Given the description of an element on the screen output the (x, y) to click on. 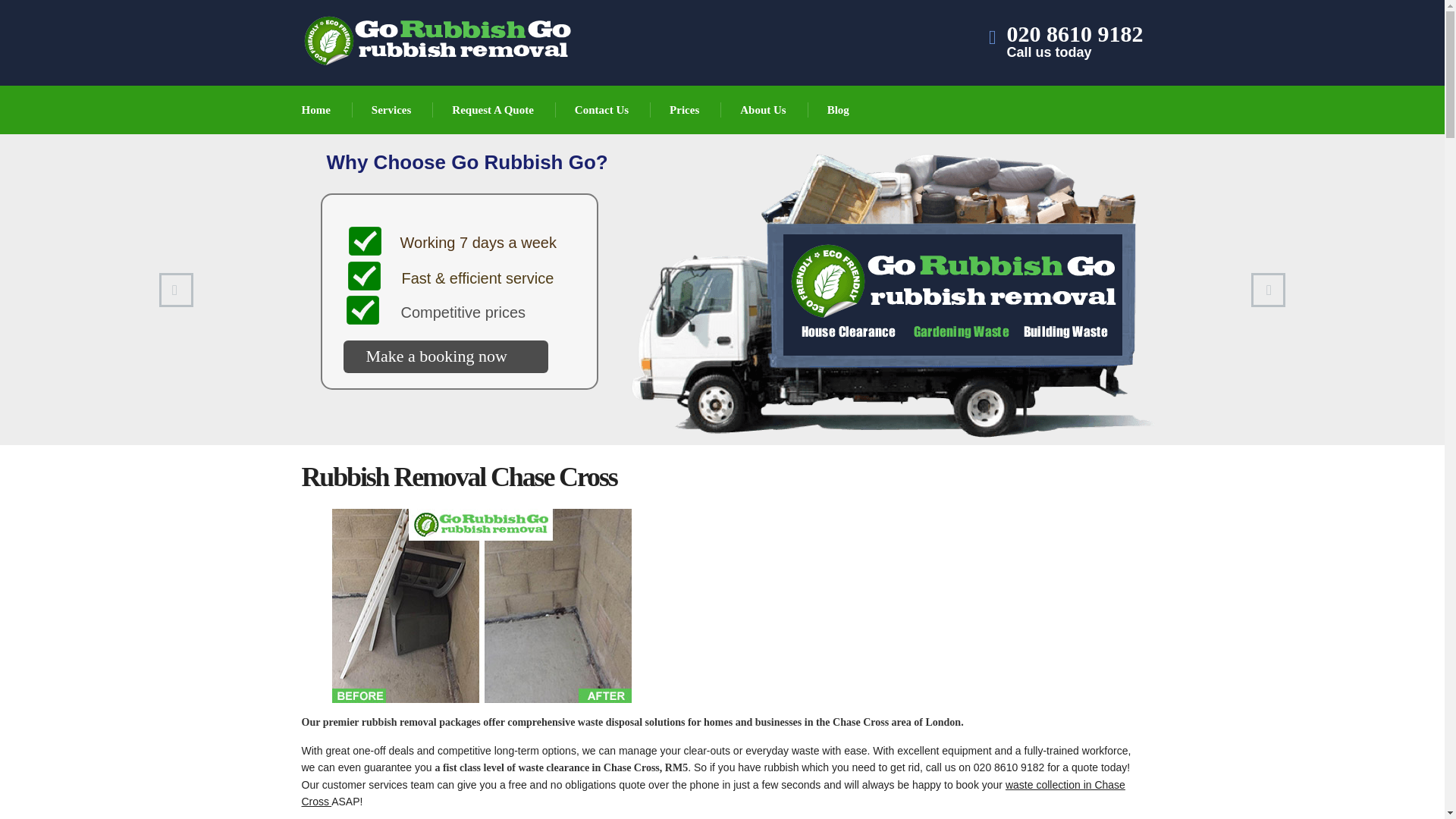
Request A Quote (493, 109)
Services (392, 109)
Home (317, 109)
About Us (763, 109)
Blog (839, 109)
Prices (684, 109)
chase-cross-waste-removal (481, 605)
Contact Us (1074, 44)
